Given the description of an element on the screen output the (x, y) to click on. 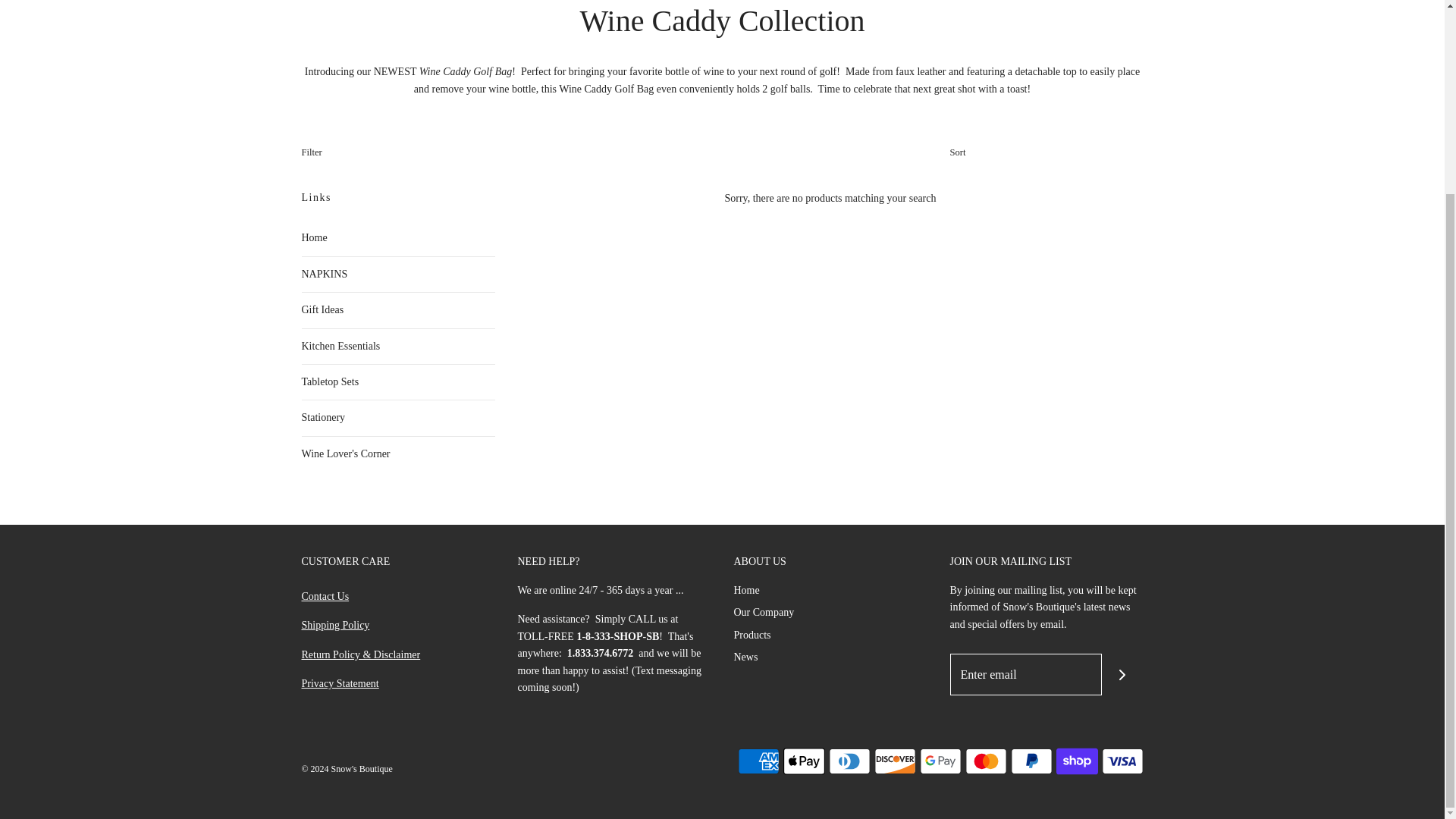
Contact Us Now (325, 595)
Mastercard (984, 761)
Diners Club (848, 761)
Free Shipping Policy (335, 624)
Apple Pay (803, 761)
Google Pay (939, 761)
PayPal (1030, 761)
Shop Pay (1076, 761)
Visa (1121, 761)
Privacy Statement (339, 683)
American Express (757, 761)
Discover (894, 761)
